Given the description of an element on the screen output the (x, y) to click on. 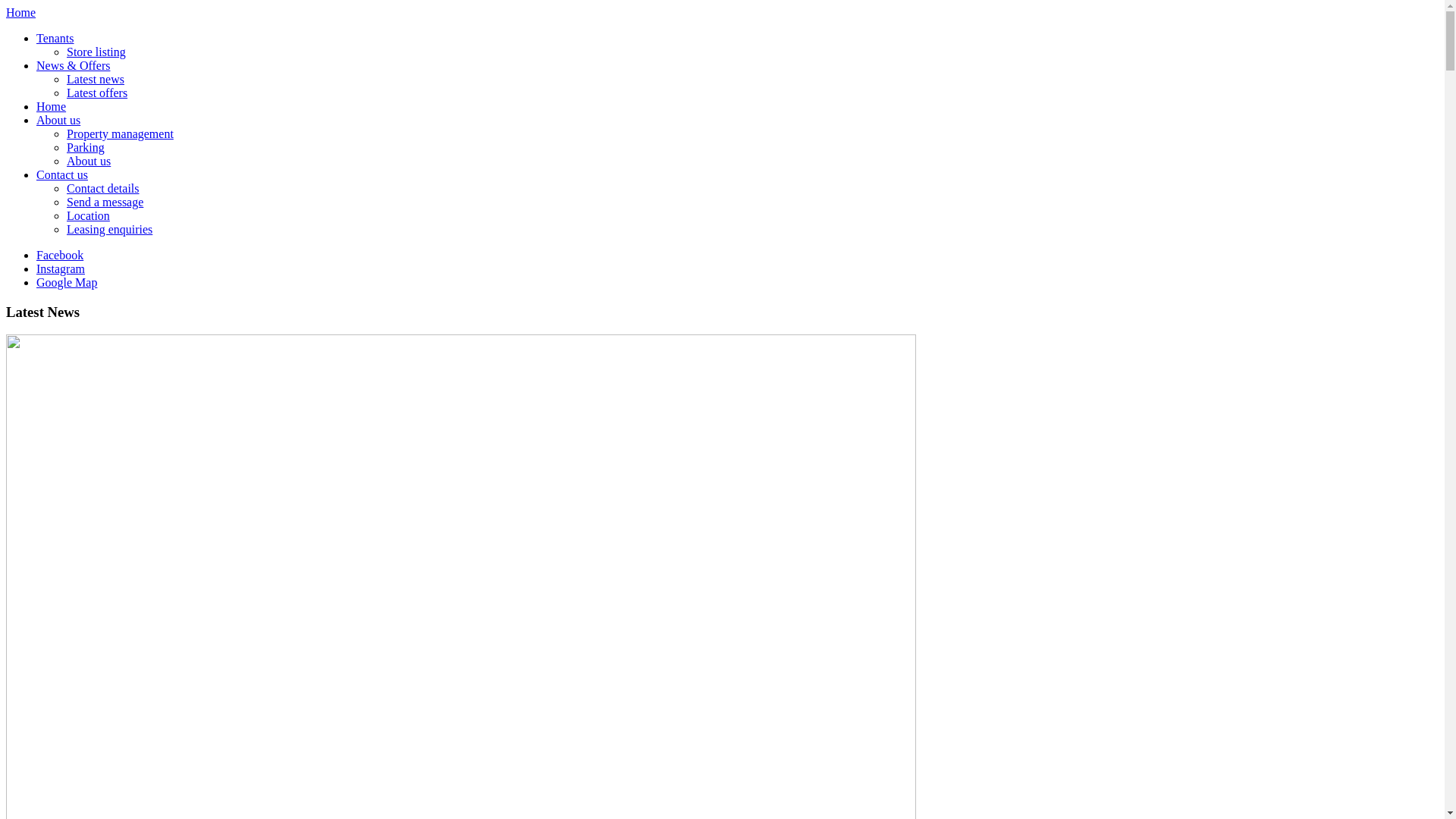
Google Map Element type: text (66, 282)
Tenants Element type: text (55, 37)
Latest offers Element type: text (96, 92)
Facebook Element type: text (59, 254)
Contact us Element type: text (61, 174)
Instagram Element type: text (60, 268)
Latest news Element type: text (95, 78)
Store listing Element type: text (95, 51)
Send a message Element type: text (104, 201)
Home Element type: text (20, 12)
About us Element type: text (88, 160)
Leasing enquiries Element type: text (109, 228)
About us Element type: text (58, 119)
News & Offers Element type: text (72, 65)
Contact details Element type: text (102, 188)
Parking Element type: text (85, 147)
Home Element type: text (50, 106)
Location Element type: text (87, 215)
Property management Element type: text (119, 133)
